Given the description of an element on the screen output the (x, y) to click on. 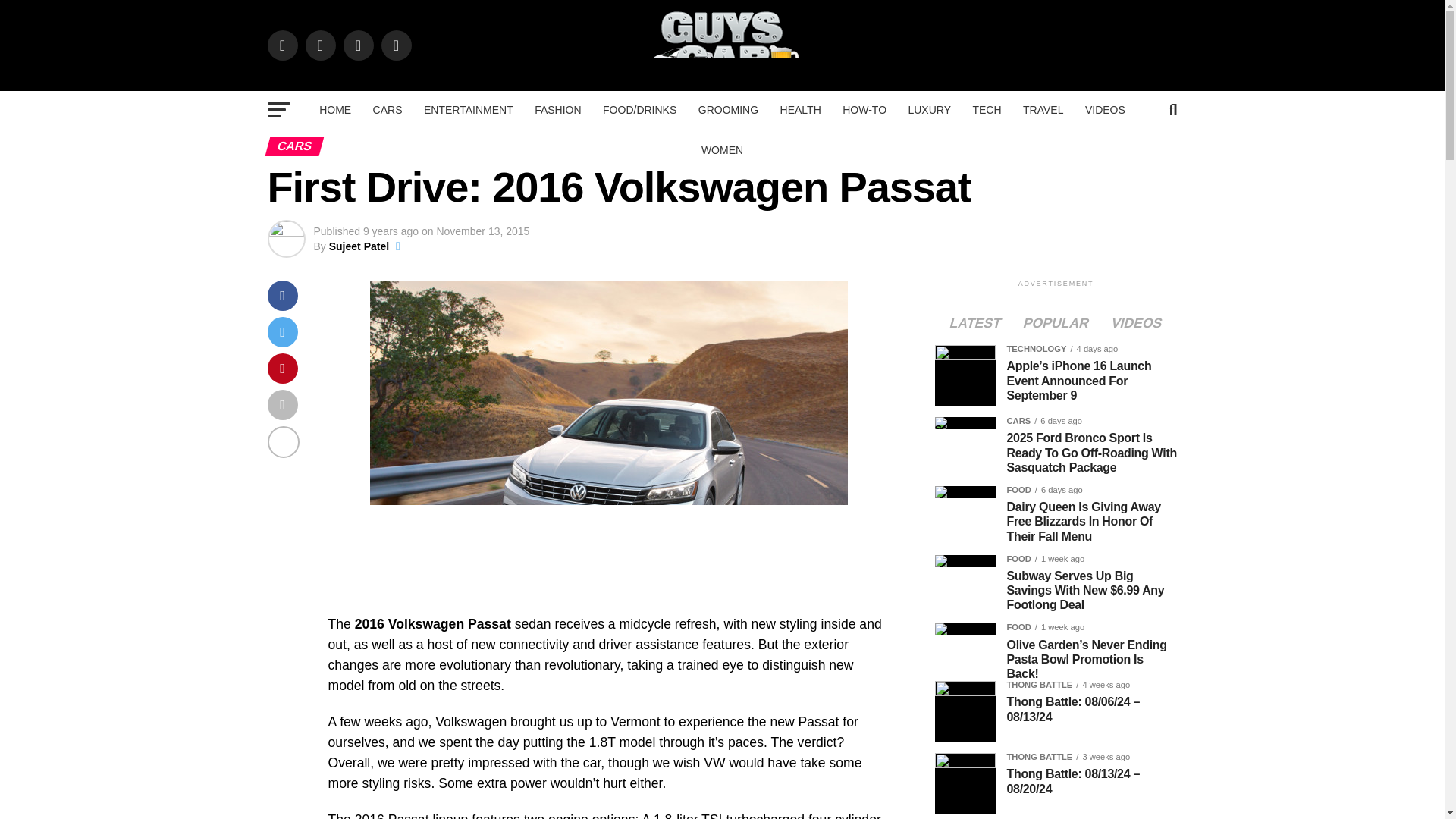
HOME (334, 109)
Posts by Sujeet Patel (358, 246)
CARS (388, 109)
